Given the description of an element on the screen output the (x, y) to click on. 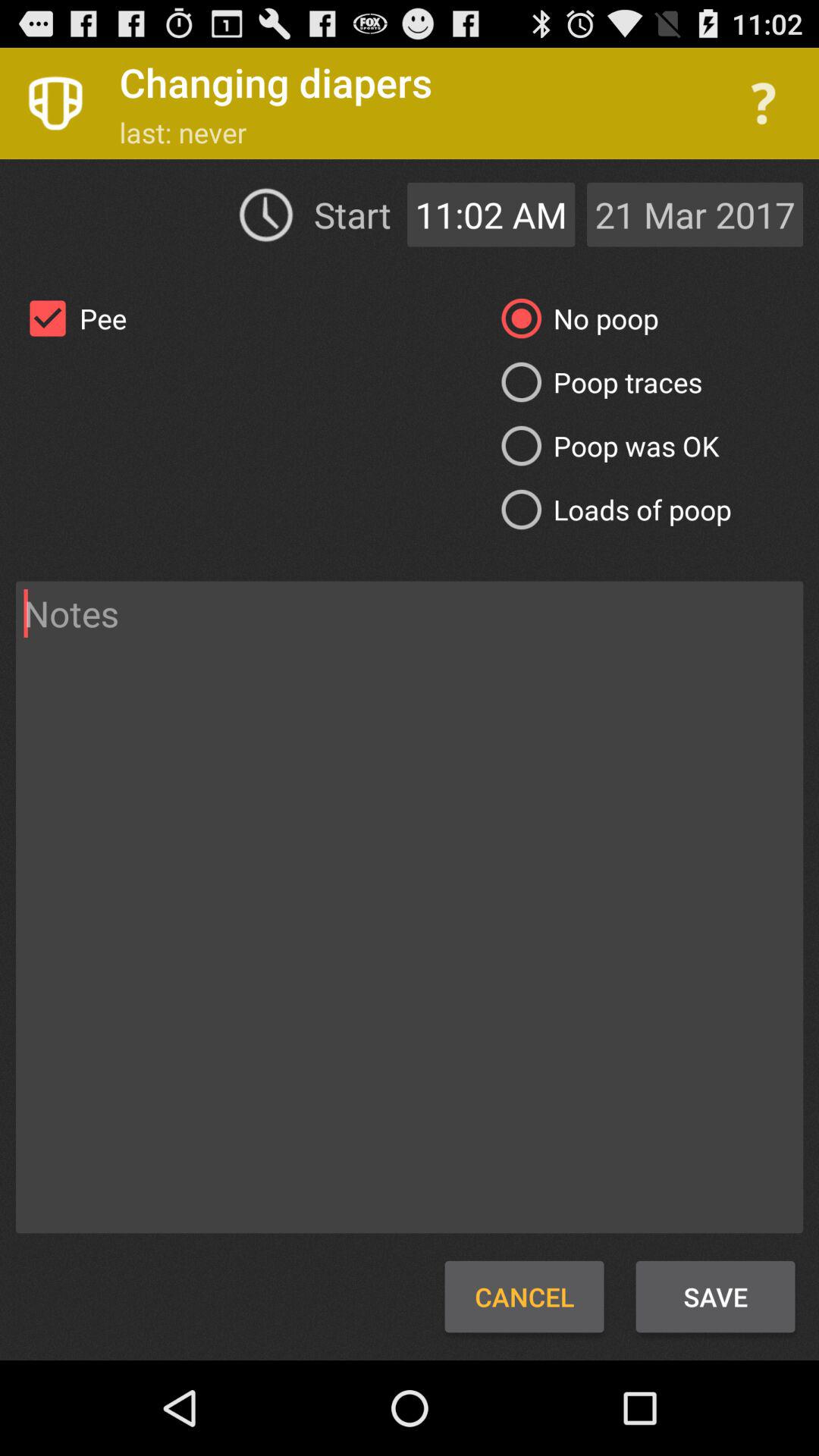
open loads of poop item (610, 509)
